Given the description of an element on the screen output the (x, y) to click on. 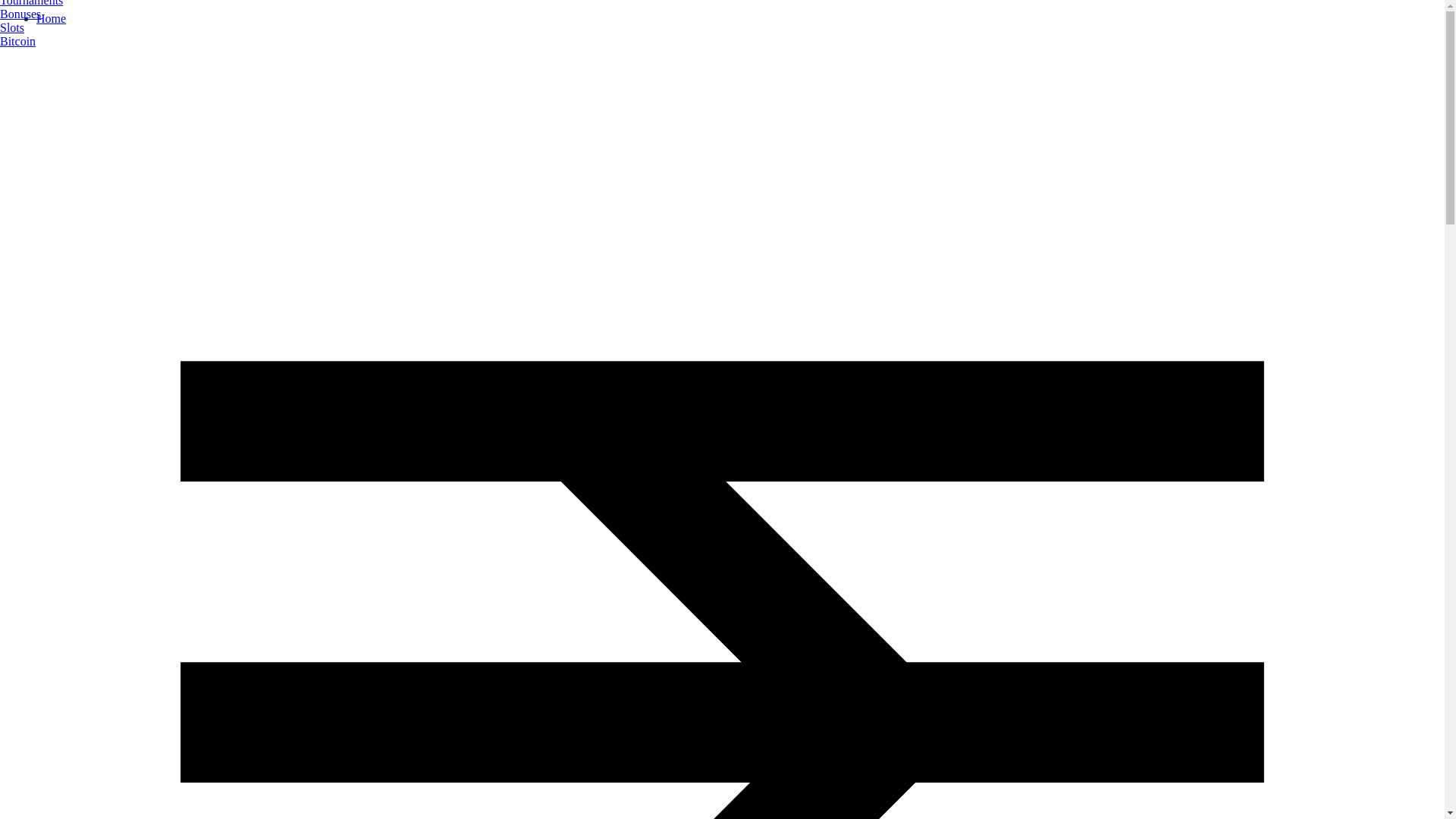
Home (50, 18)
